Given the description of an element on the screen output the (x, y) to click on. 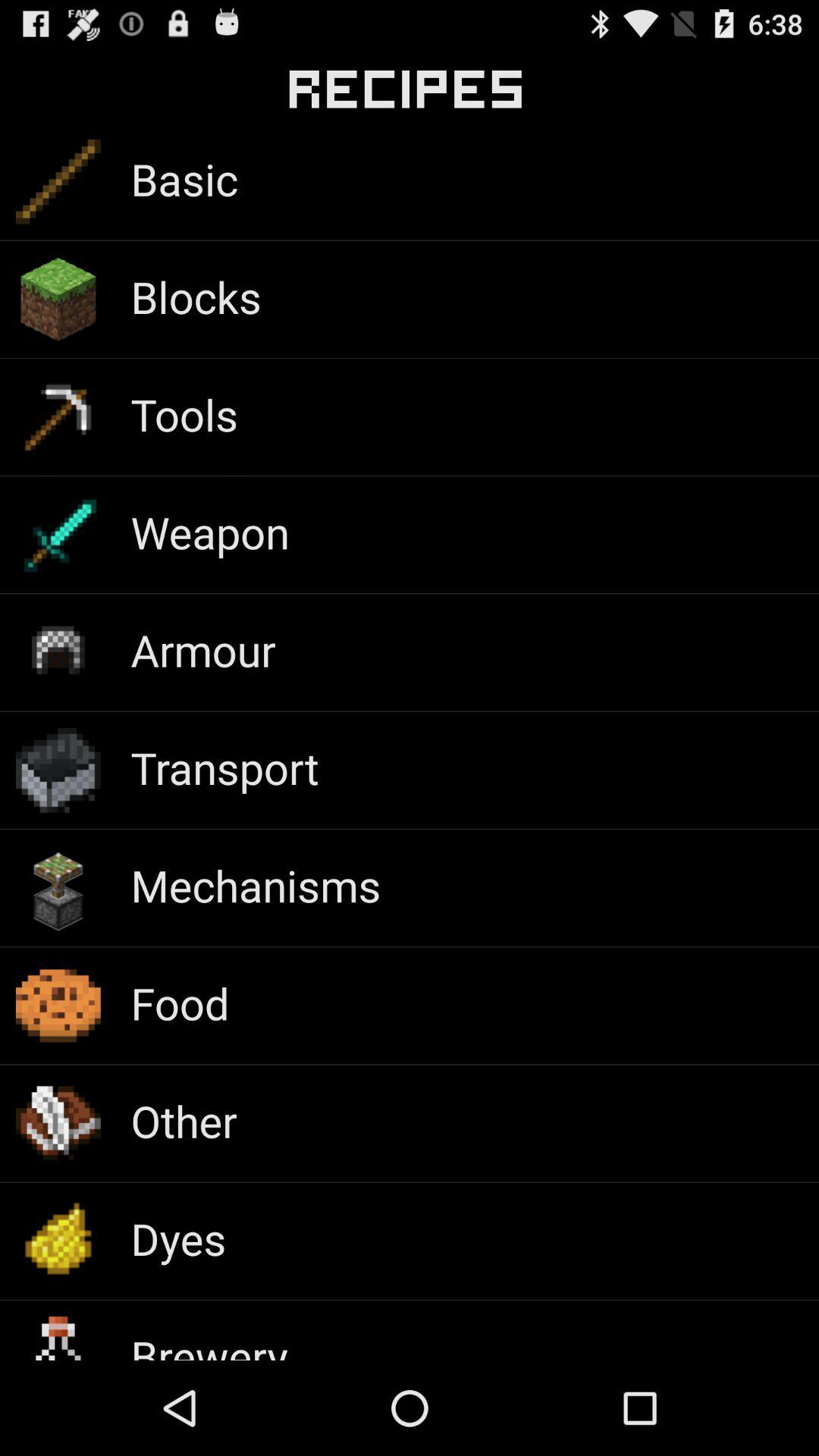
turn on dyes (178, 1238)
